Given the description of an element on the screen output the (x, y) to click on. 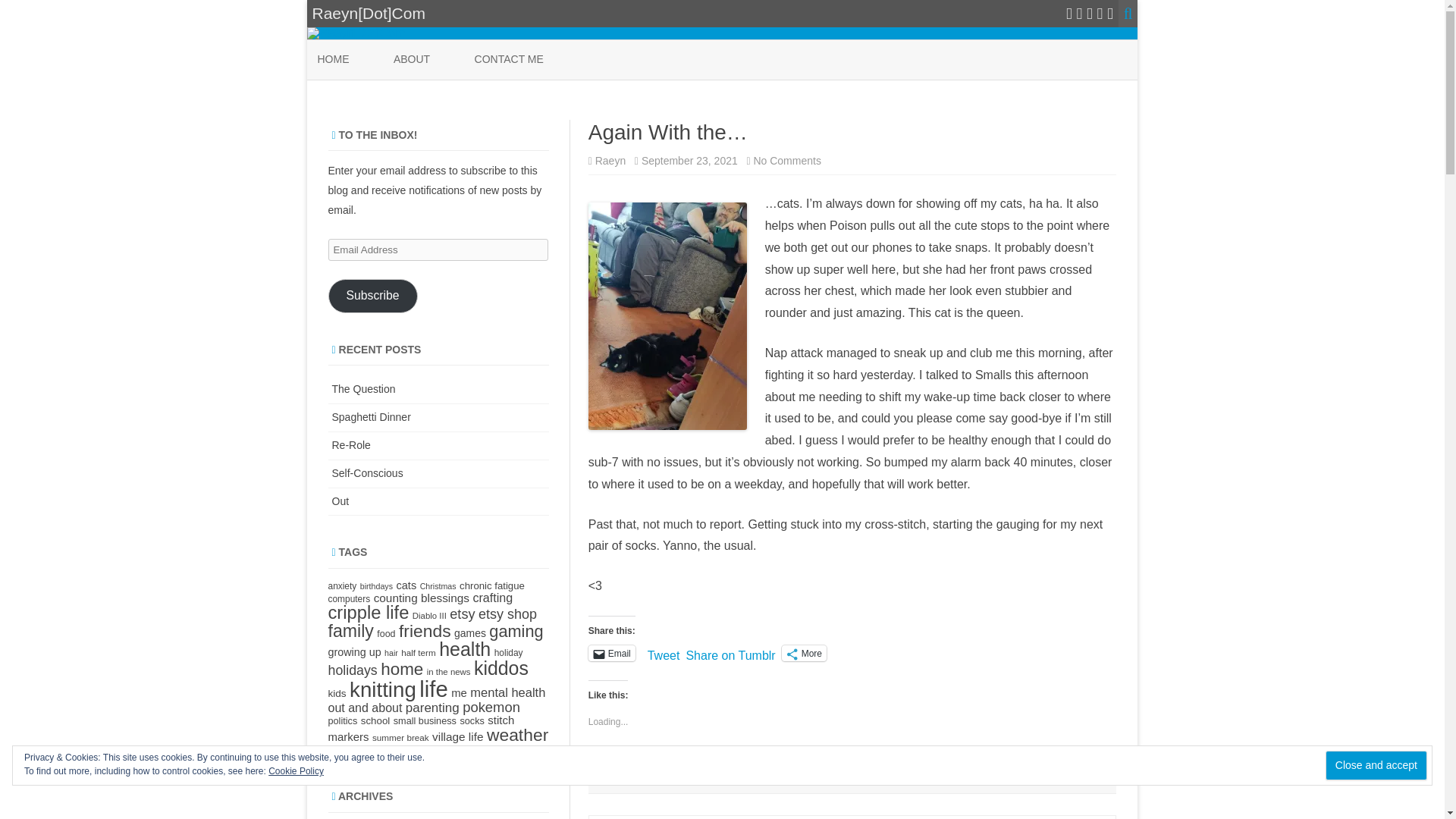
Share on Tumblr (729, 652)
CONTACT ME (508, 59)
Share on Tumblr (729, 652)
Tweet (663, 652)
Email (611, 652)
Close and accept (1375, 765)
ABOUT (411, 59)
More (804, 652)
Raeyn (610, 160)
Subscribe (371, 295)
Uncategorized (633, 776)
Click to email a link to a friend (611, 652)
